Given the description of an element on the screen output the (x, y) to click on. 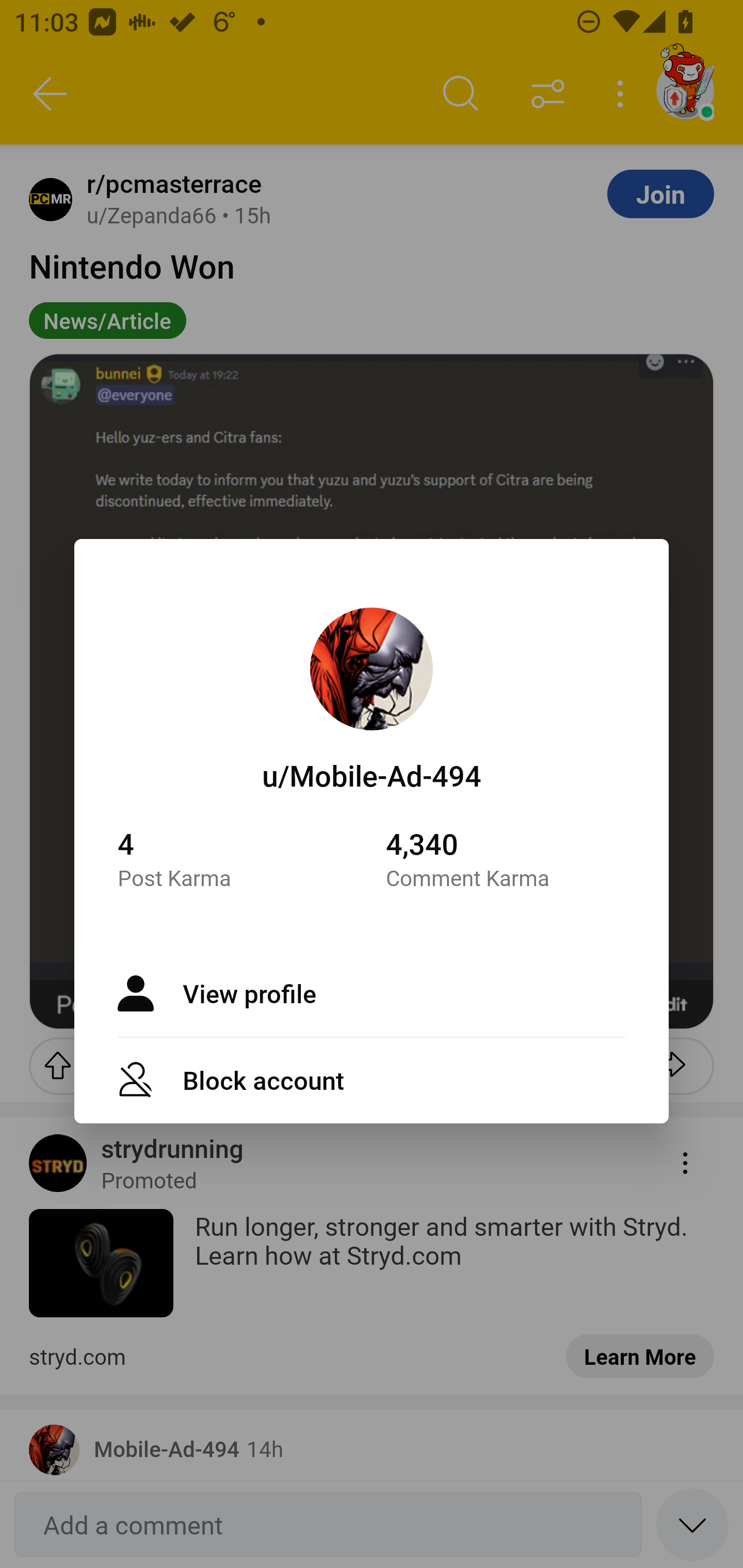
u/Mobile-Ad-494 (371, 774)
View profile (371, 993)
Block account (371, 1079)
